Given the description of an element on the screen output the (x, y) to click on. 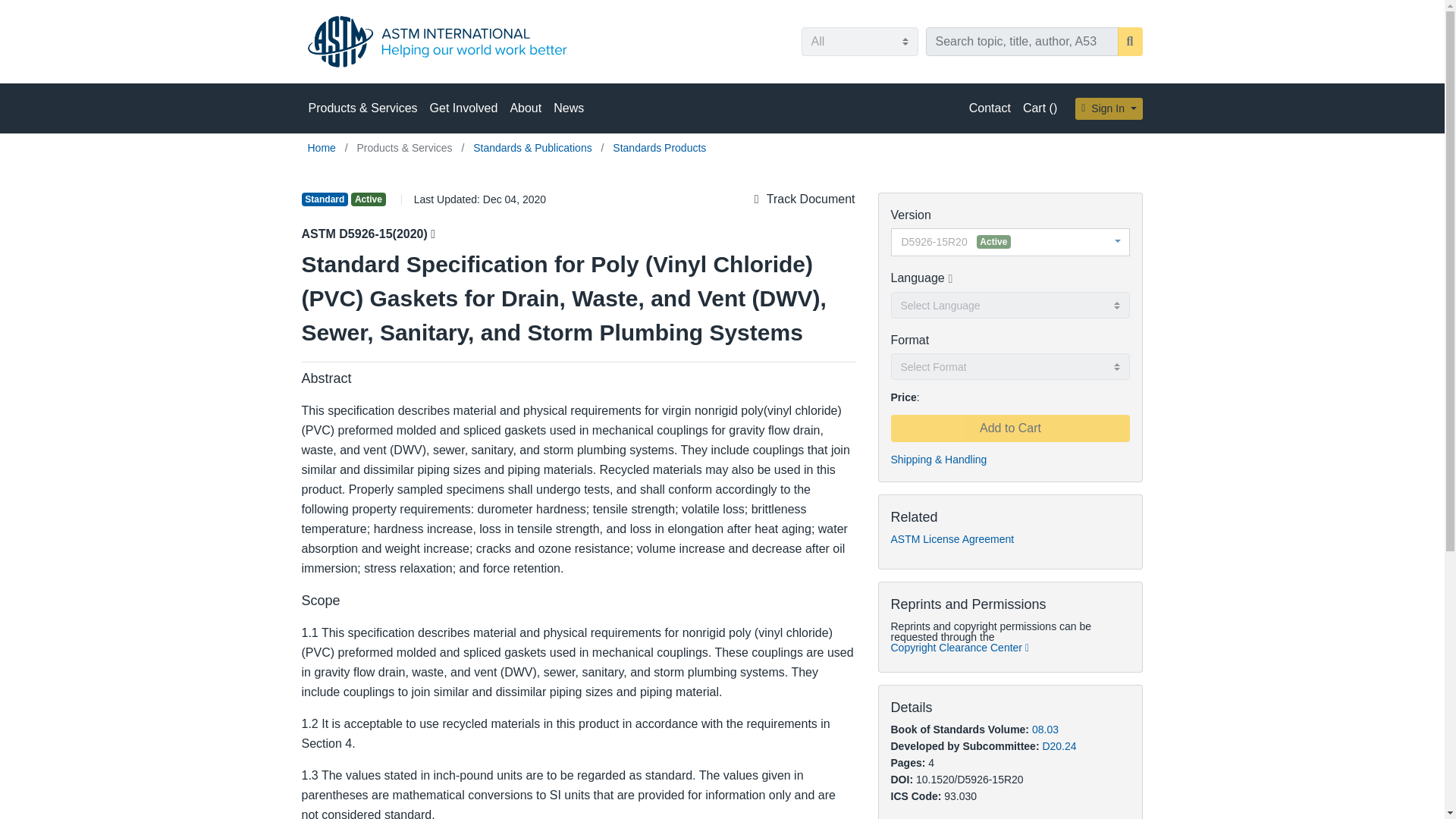
Go to Home Page (323, 147)
All (858, 41)
Add to Cart (1009, 428)
